Given the description of an element on the screen output the (x, y) to click on. 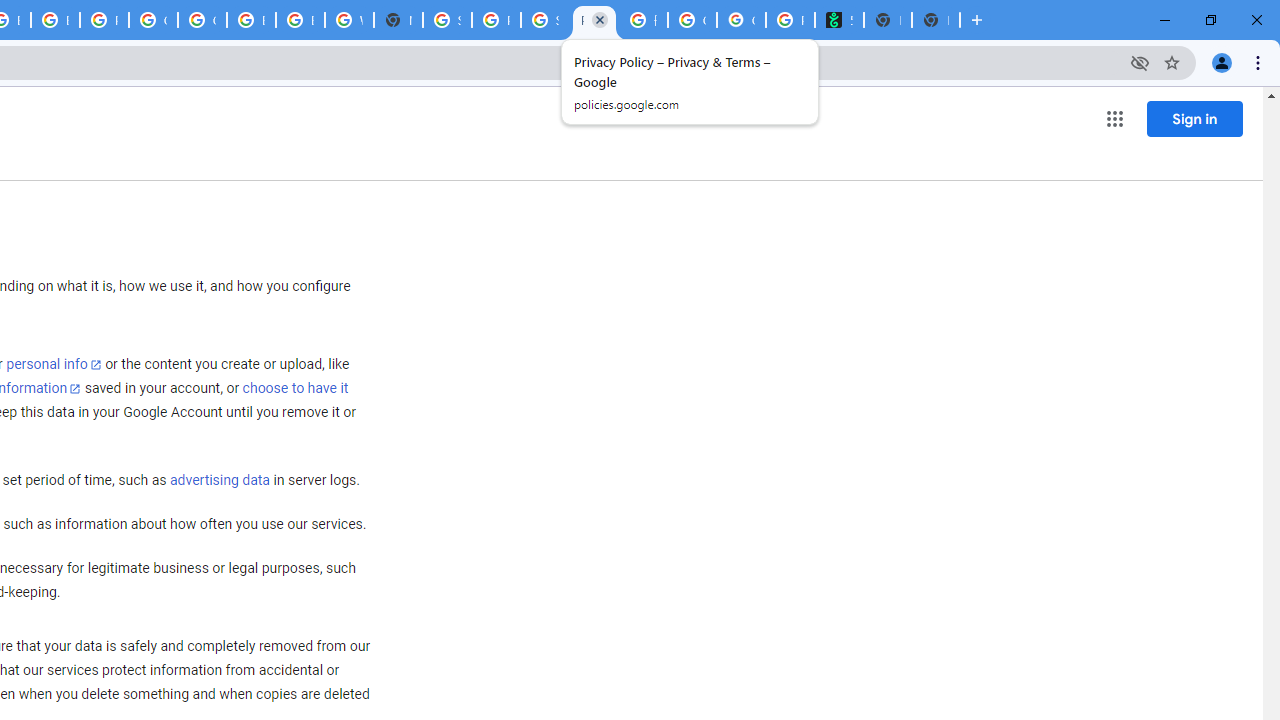
New Tab (935, 20)
Sign in - Google Accounts (447, 20)
Browse Chrome as a guest - Computer - Google Chrome Help (300, 20)
Browse Chrome as a guest - Computer - Google Chrome Help (55, 20)
Google apps (1114, 118)
Google Cloud Platform (153, 20)
Browse Chrome as a guest - Computer - Google Chrome Help (251, 20)
